Given the description of an element on the screen output the (x, y) to click on. 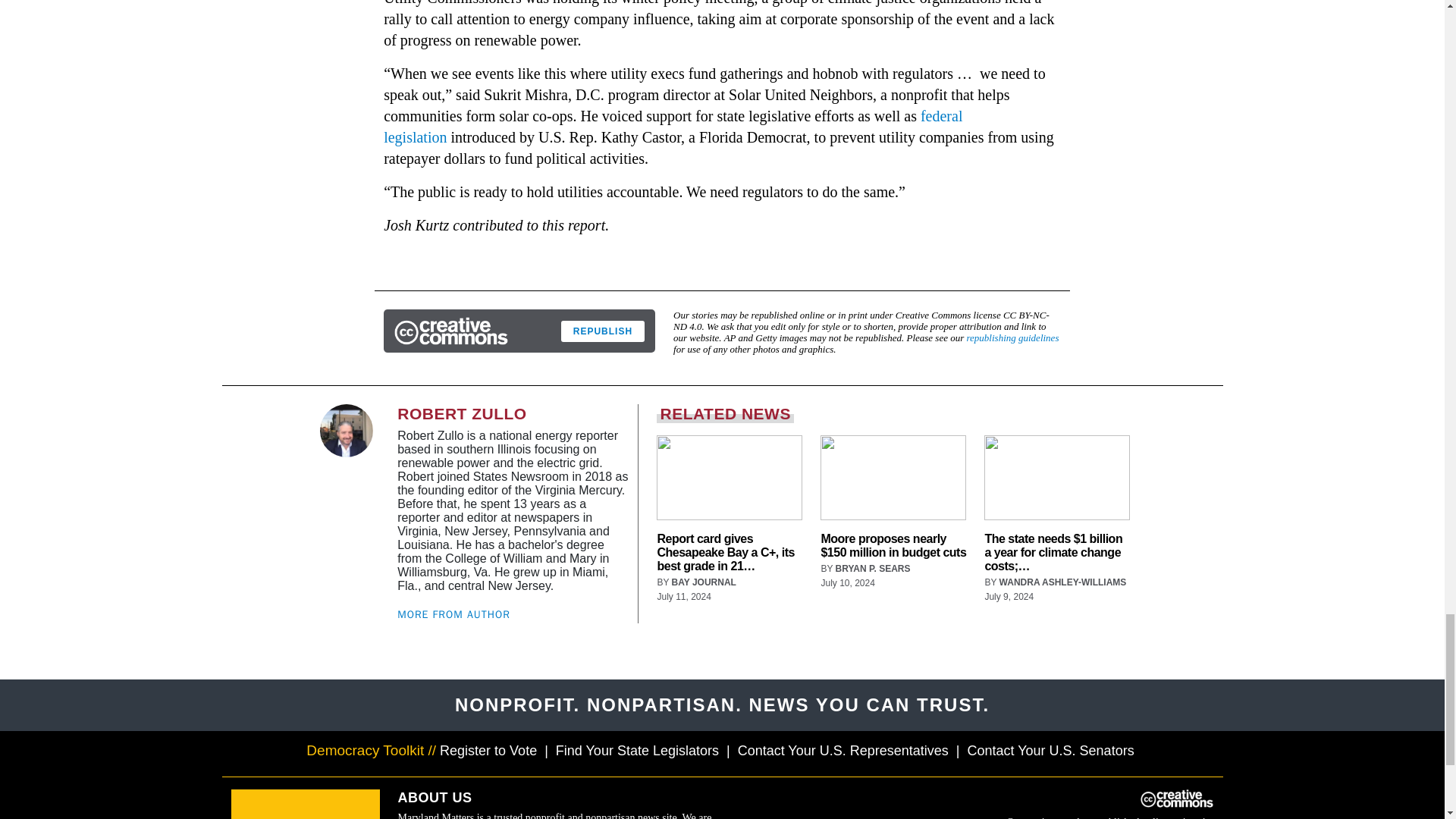
Posts by Wandra Ashley-Williams (1062, 582)
Posts by Bryan P. Sears (873, 568)
Posts by Bay Journal (703, 582)
